Given the description of an element on the screen output the (x, y) to click on. 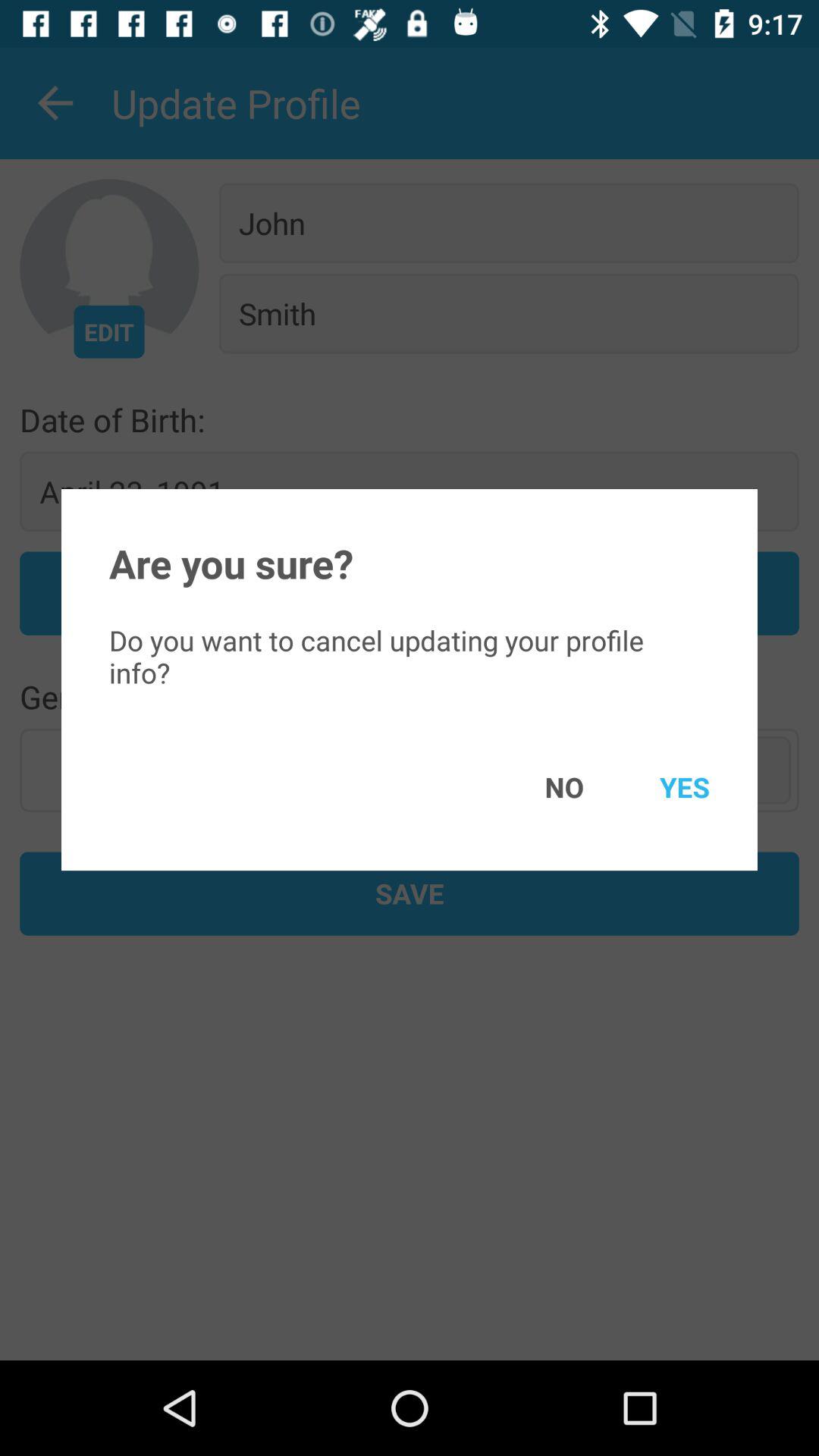
flip to no icon (542, 786)
